Given the description of an element on the screen output the (x, y) to click on. 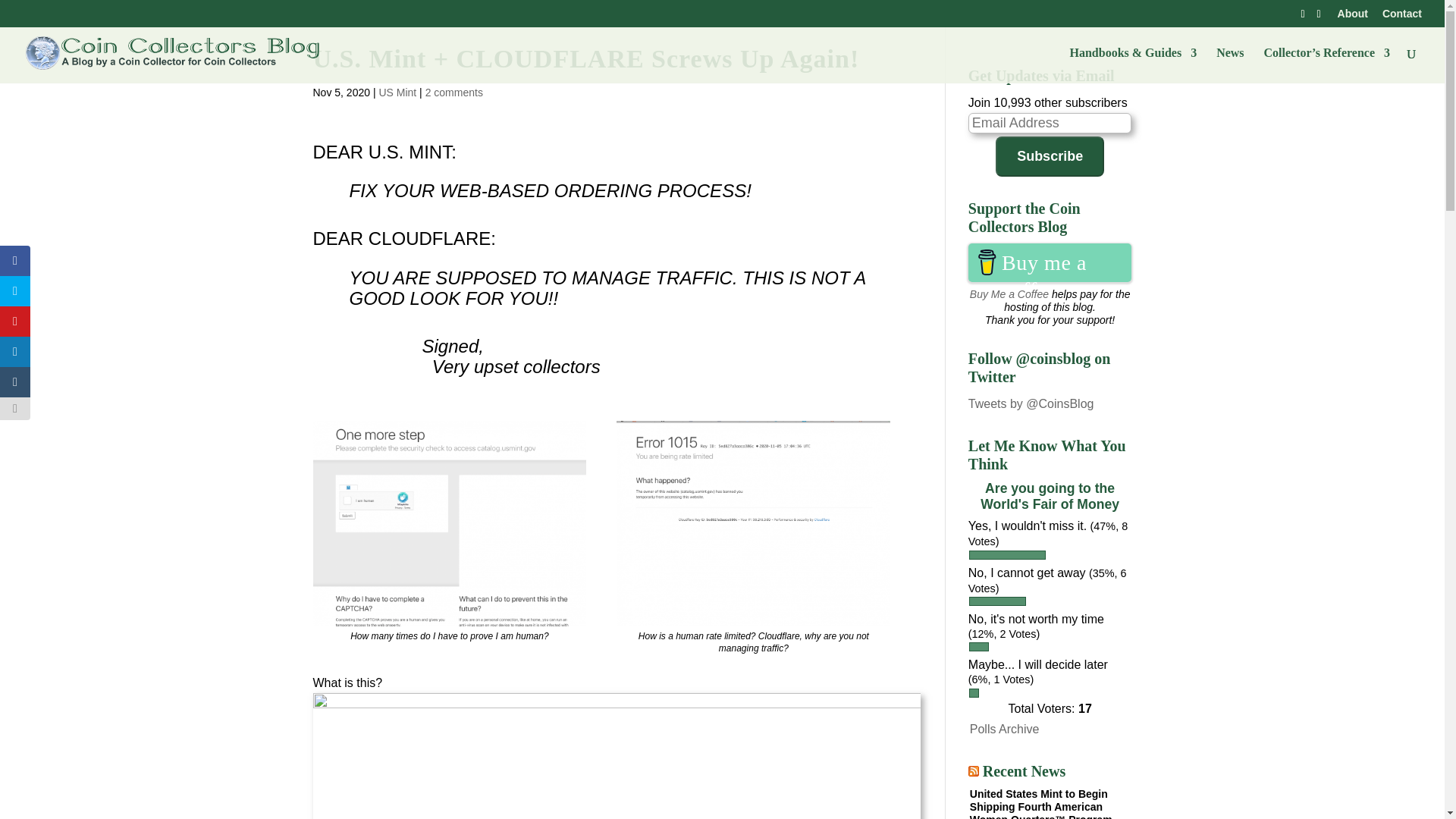
US Mint (397, 92)
2 comments (454, 92)
About (1353, 16)
Contact (1401, 16)
